Given the description of an element on the screen output the (x, y) to click on. 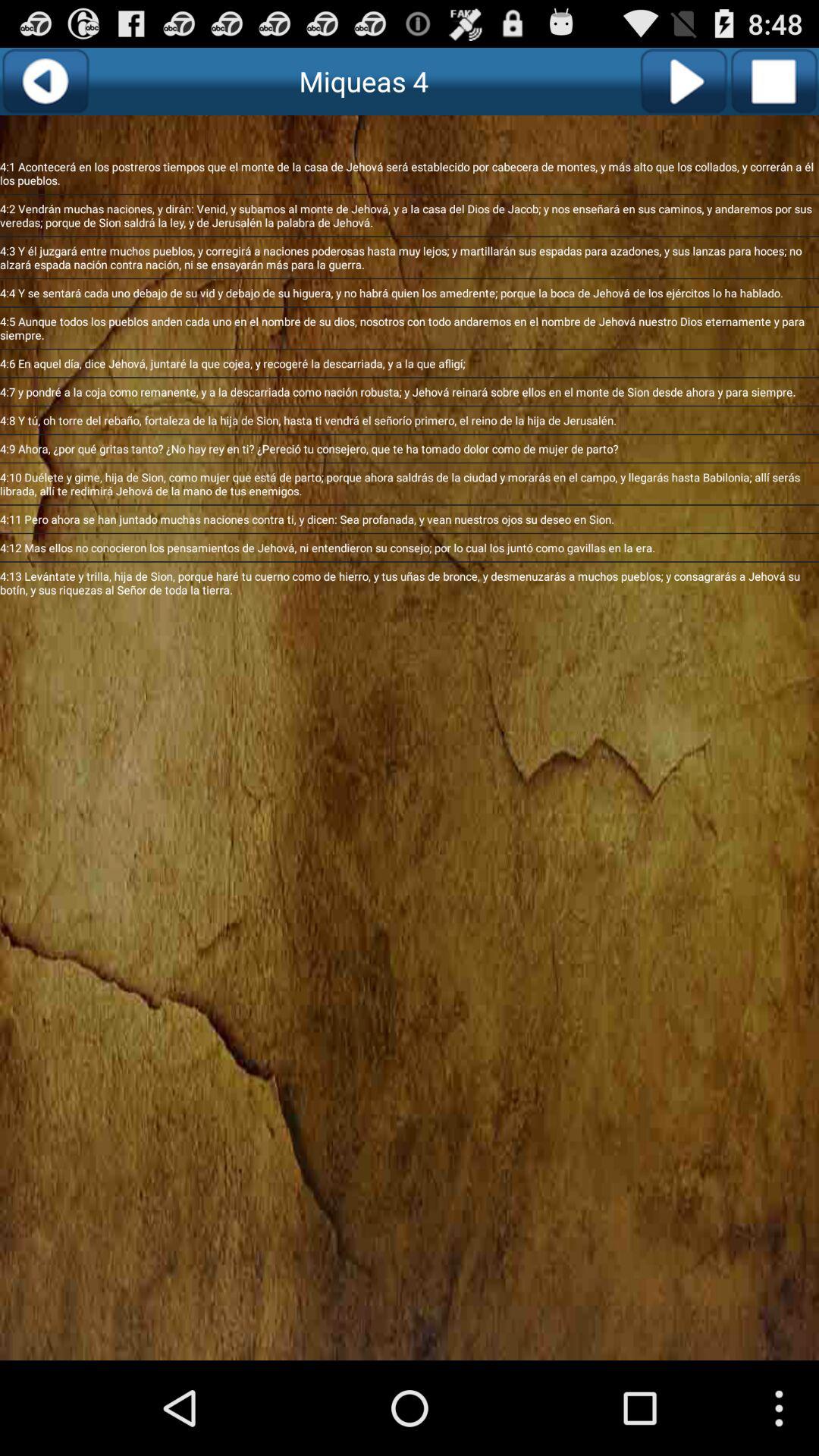
launch the app next to miqueas 4 app (683, 81)
